Given the description of an element on the screen output the (x, y) to click on. 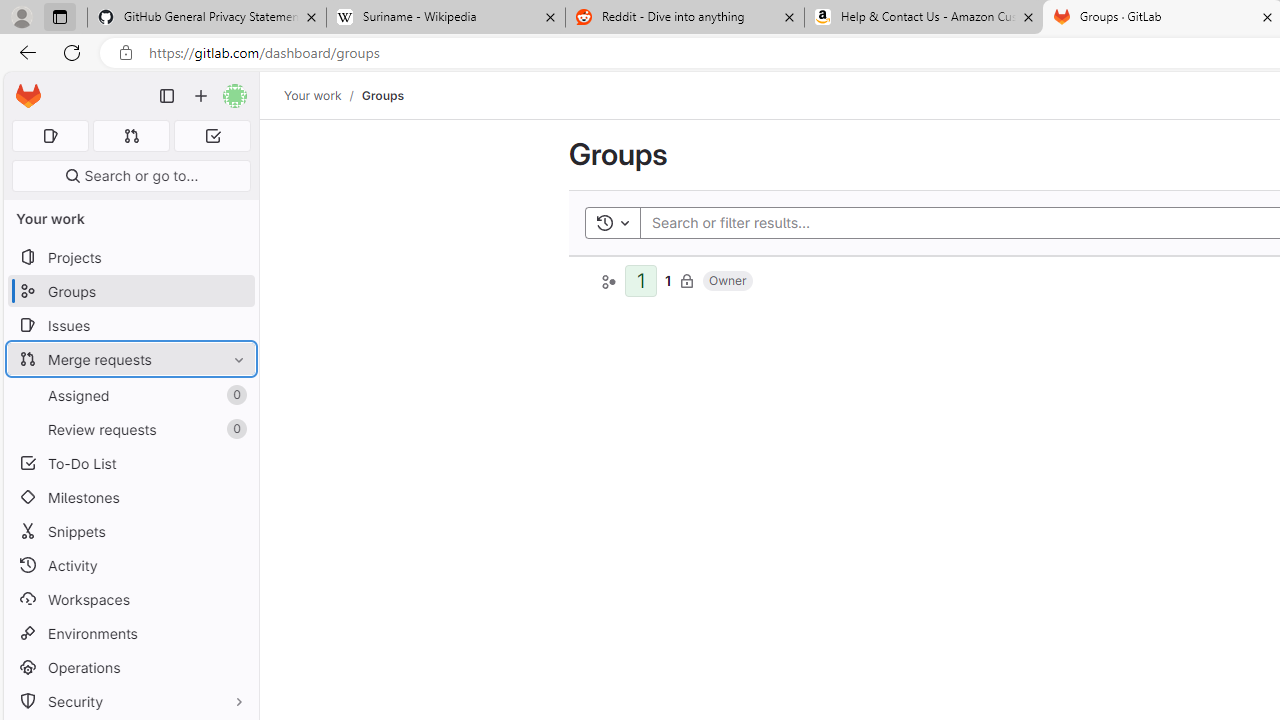
Milestones (130, 497)
Environments (130, 633)
Create new... (201, 96)
Activity (130, 564)
Merge requests (130, 358)
To-Do list 0 (212, 136)
Issues (130, 325)
Suriname - Wikipedia (445, 17)
